Given the description of an element on the screen output the (x, y) to click on. 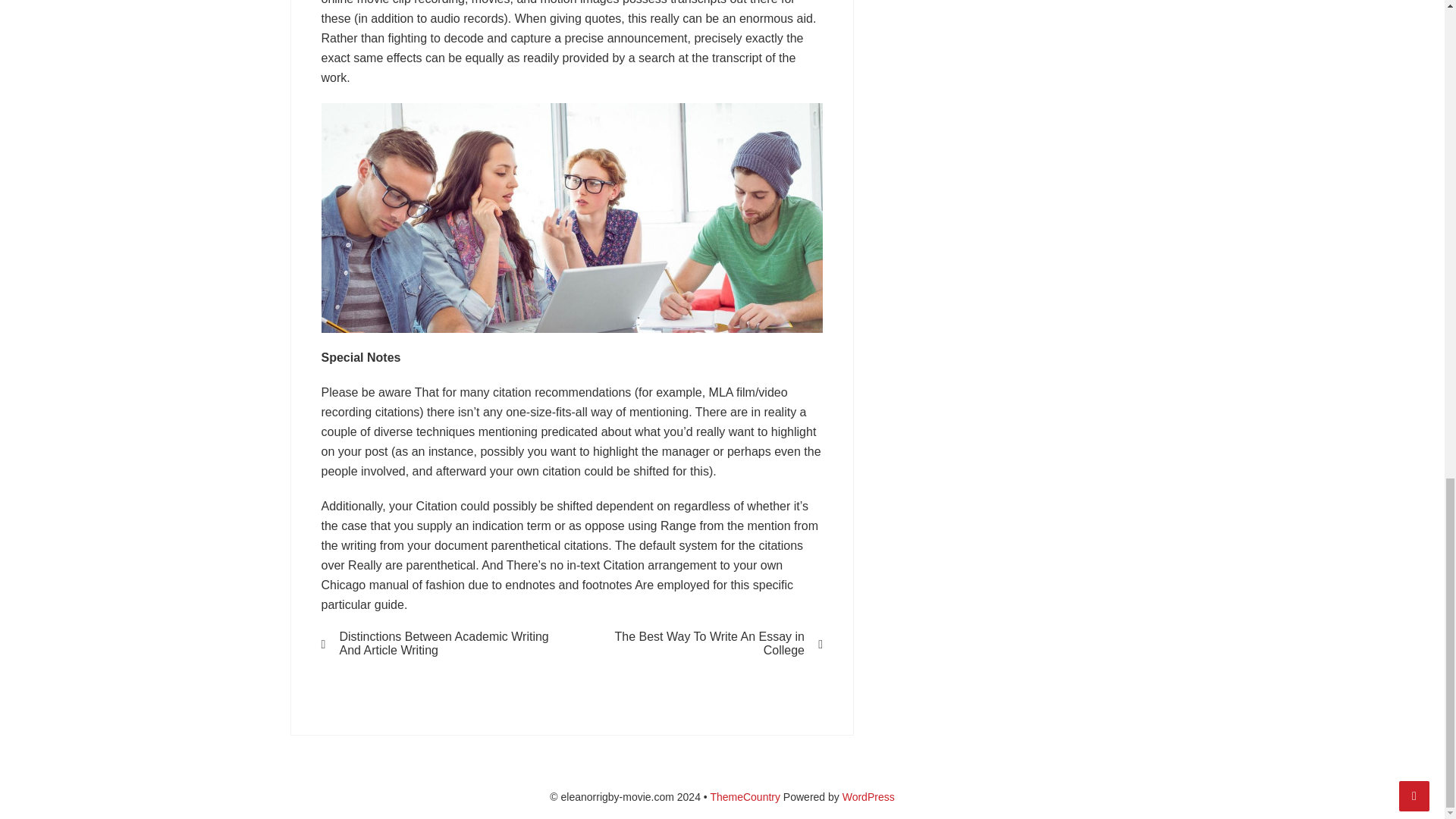
The Best Way To Write An Essay in College (707, 643)
BasePress - The best free WordPress blog theme for WordPress (745, 797)
Distinctions Between Academic Writing And Article Writing (436, 643)
WordPress (869, 797)
ThemeCountry (745, 797)
